Given the description of an element on the screen output the (x, y) to click on. 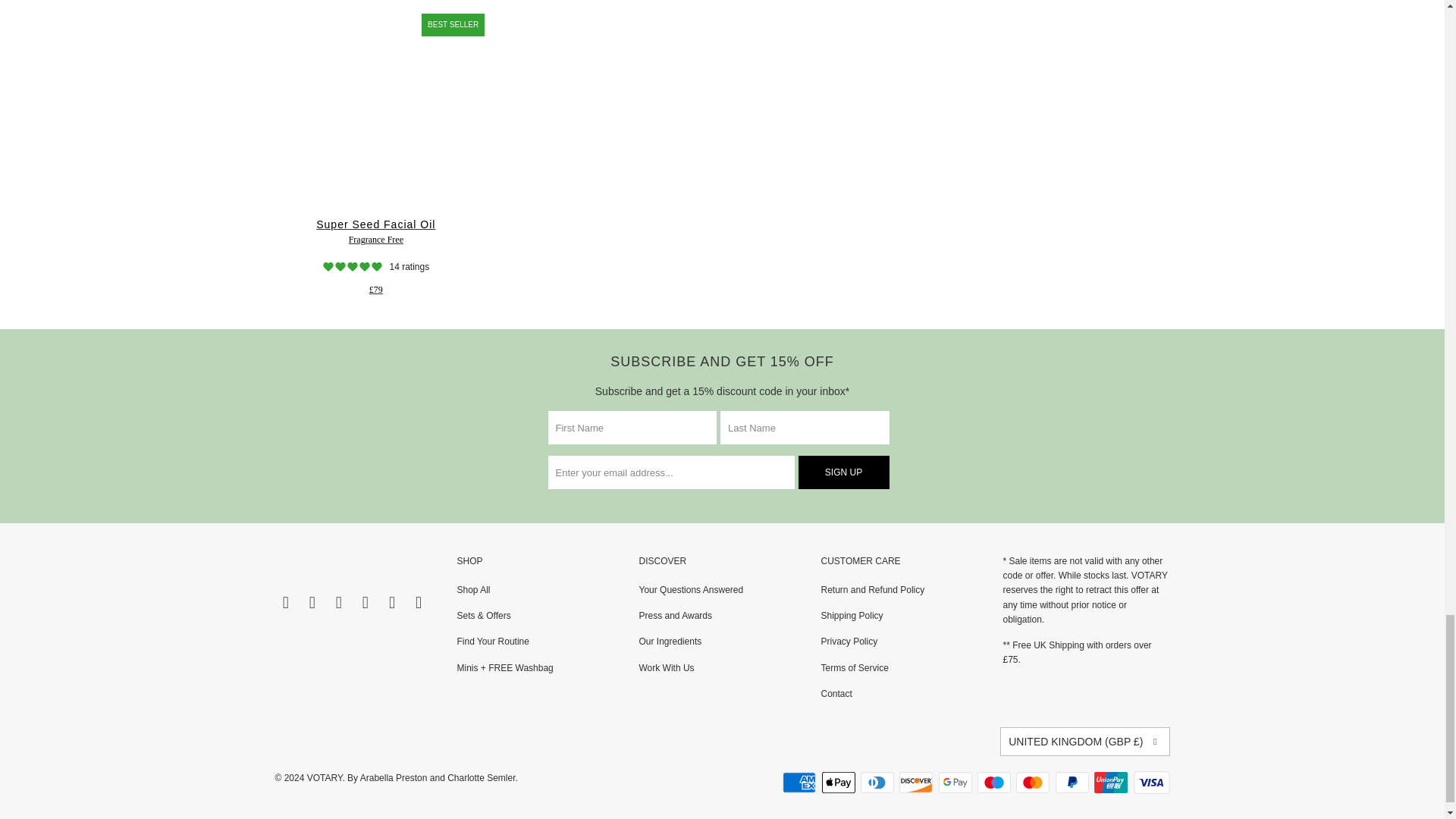
Maestro (994, 782)
PayPal (1073, 782)
Discover (917, 782)
Mastercard (1034, 782)
Union Pay (1112, 782)
Sign Up (842, 471)
Apple Pay (840, 782)
VOTARY on Facebook (286, 602)
Diners Club (878, 782)
American Express (800, 782)
Google Pay (957, 782)
Visa (1150, 782)
VOTARY on Instagram (312, 602)
